Given the description of an element on the screen output the (x, y) to click on. 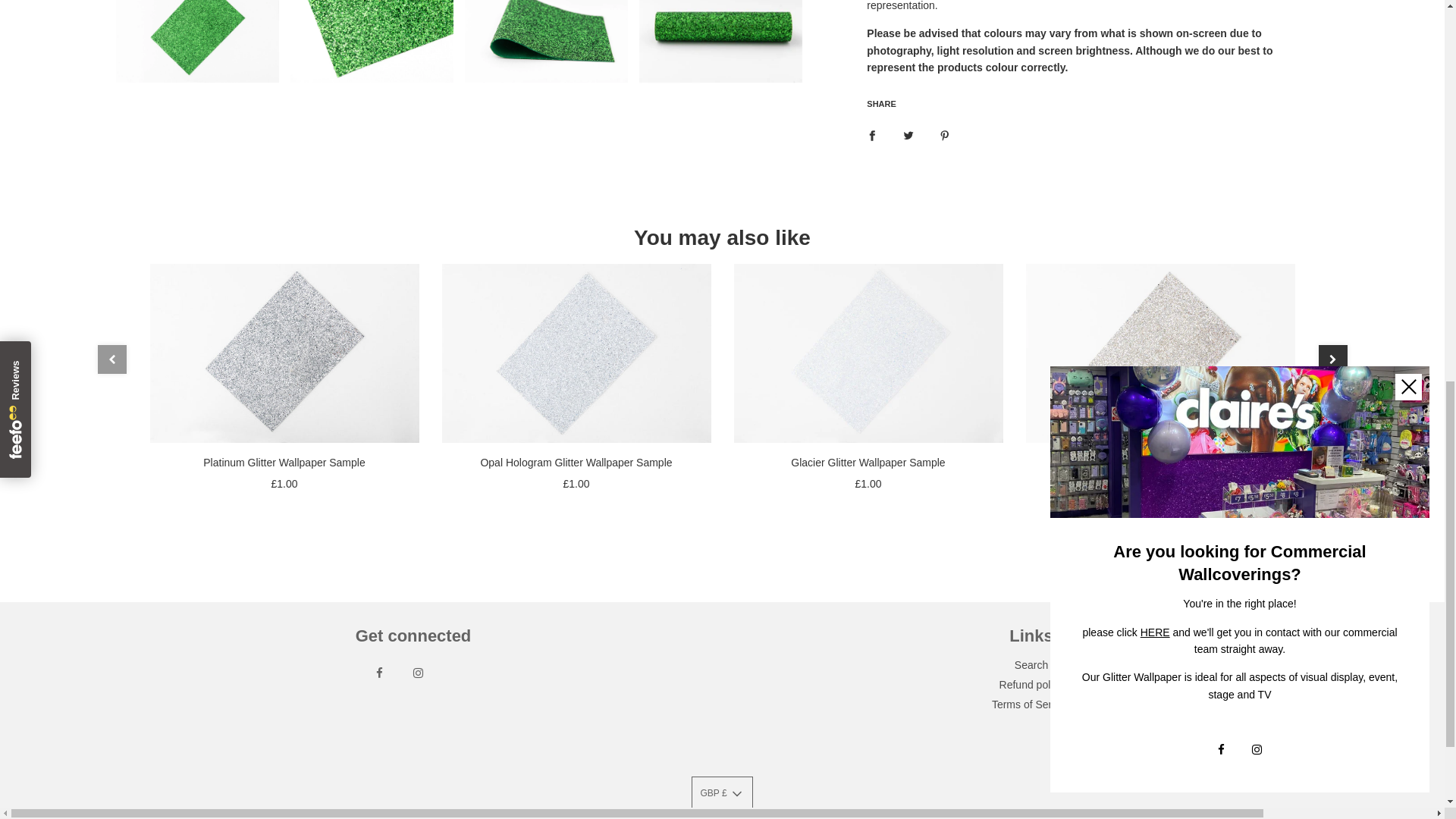
Ice Glitter Wallpaper Sample (1159, 353)
Platinum Glitter Wallpaper Sample (284, 353)
Opal Hologram Glitter Wallpaper Sample (575, 353)
Glacier Glitter Wallpaper Sample (868, 353)
